Given the description of an element on the screen output the (x, y) to click on. 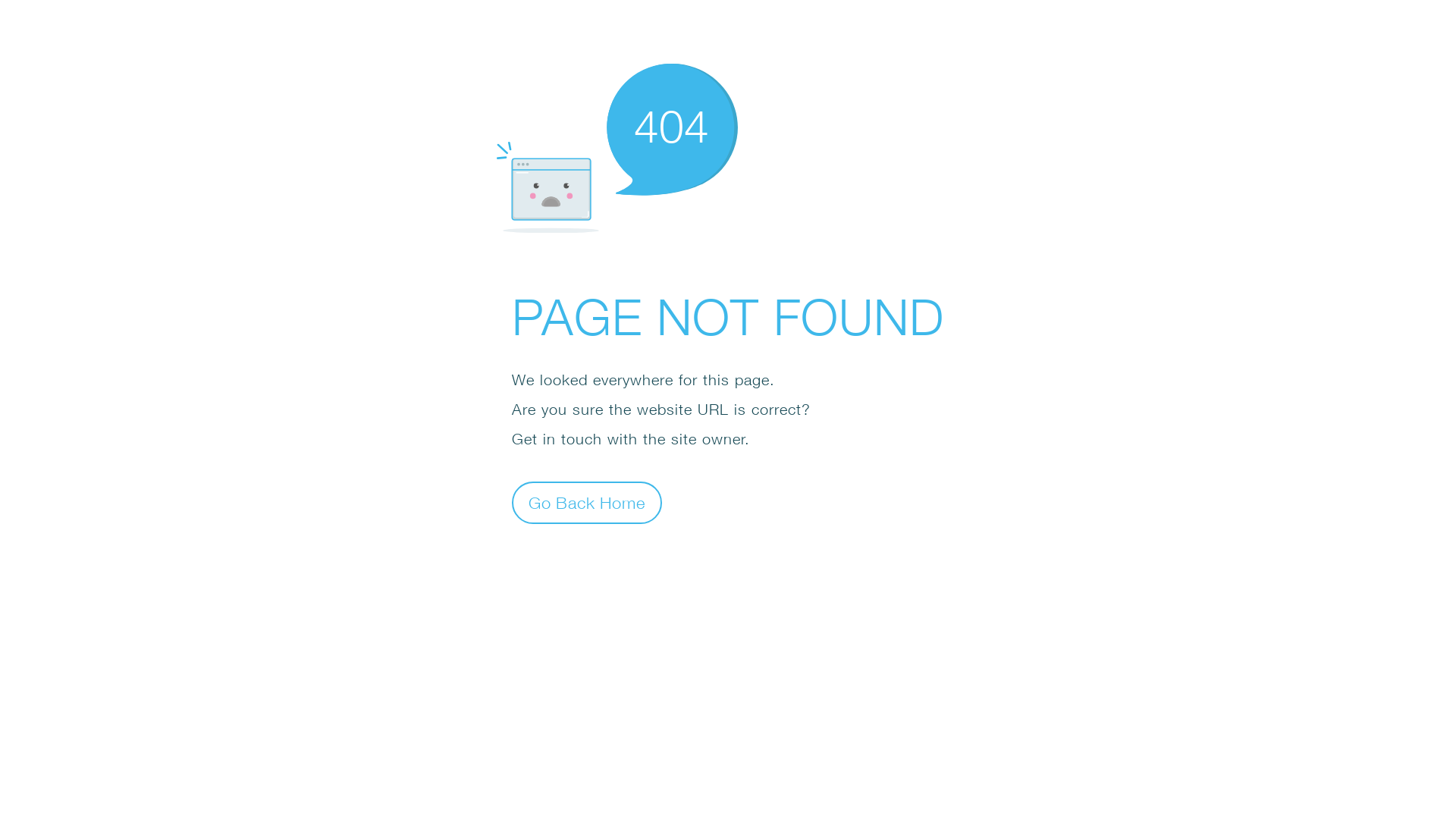
Go Back Home Element type: text (586, 502)
